Given the description of an element on the screen output the (x, y) to click on. 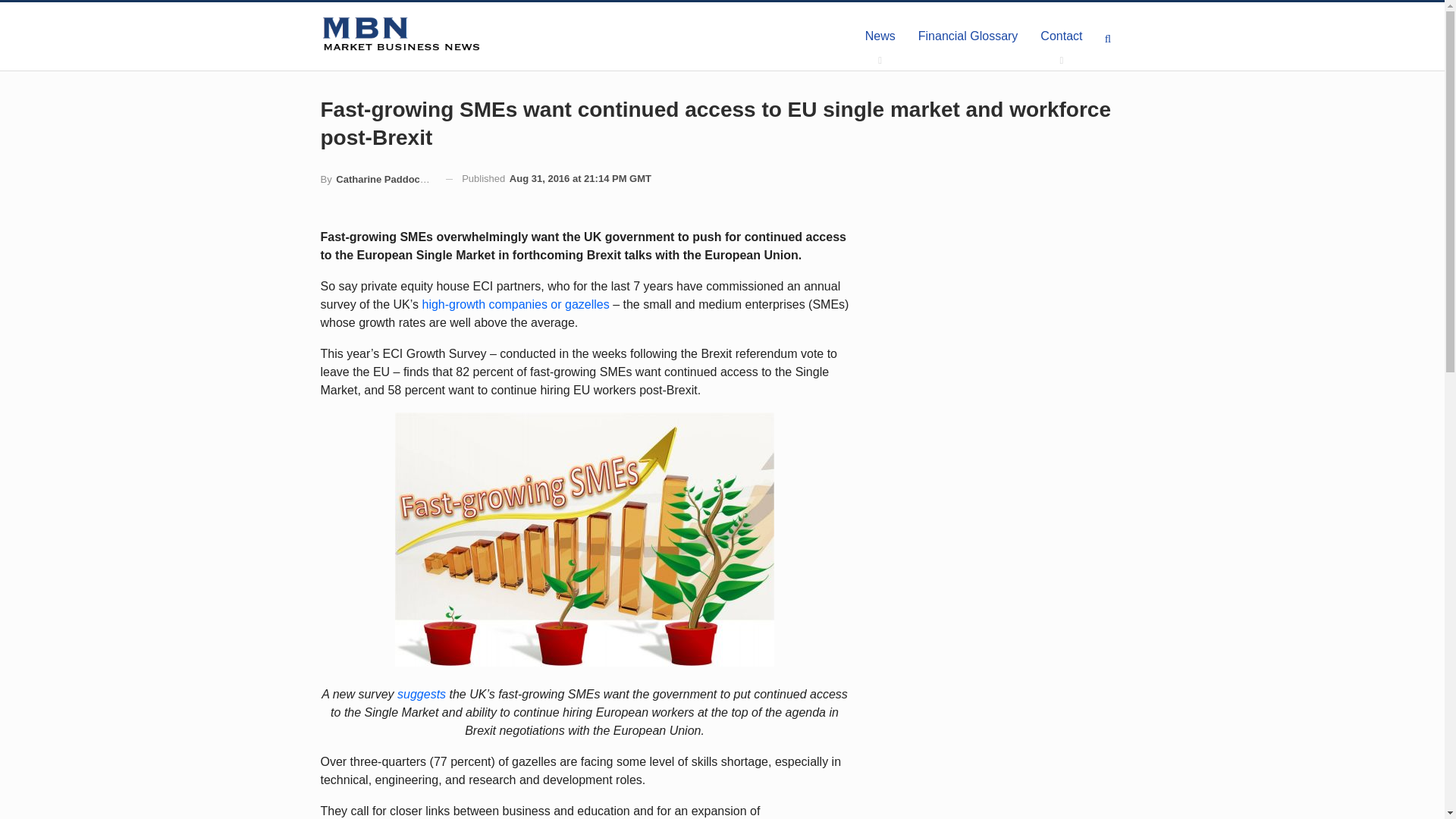
Contact (1061, 36)
suggests (421, 694)
Browse Author Articles (376, 179)
high-growth companies or gazelles (515, 304)
Financial Glossary (968, 36)
By Catharine Paddock PhD (376, 179)
